Given the description of an element on the screen output the (x, y) to click on. 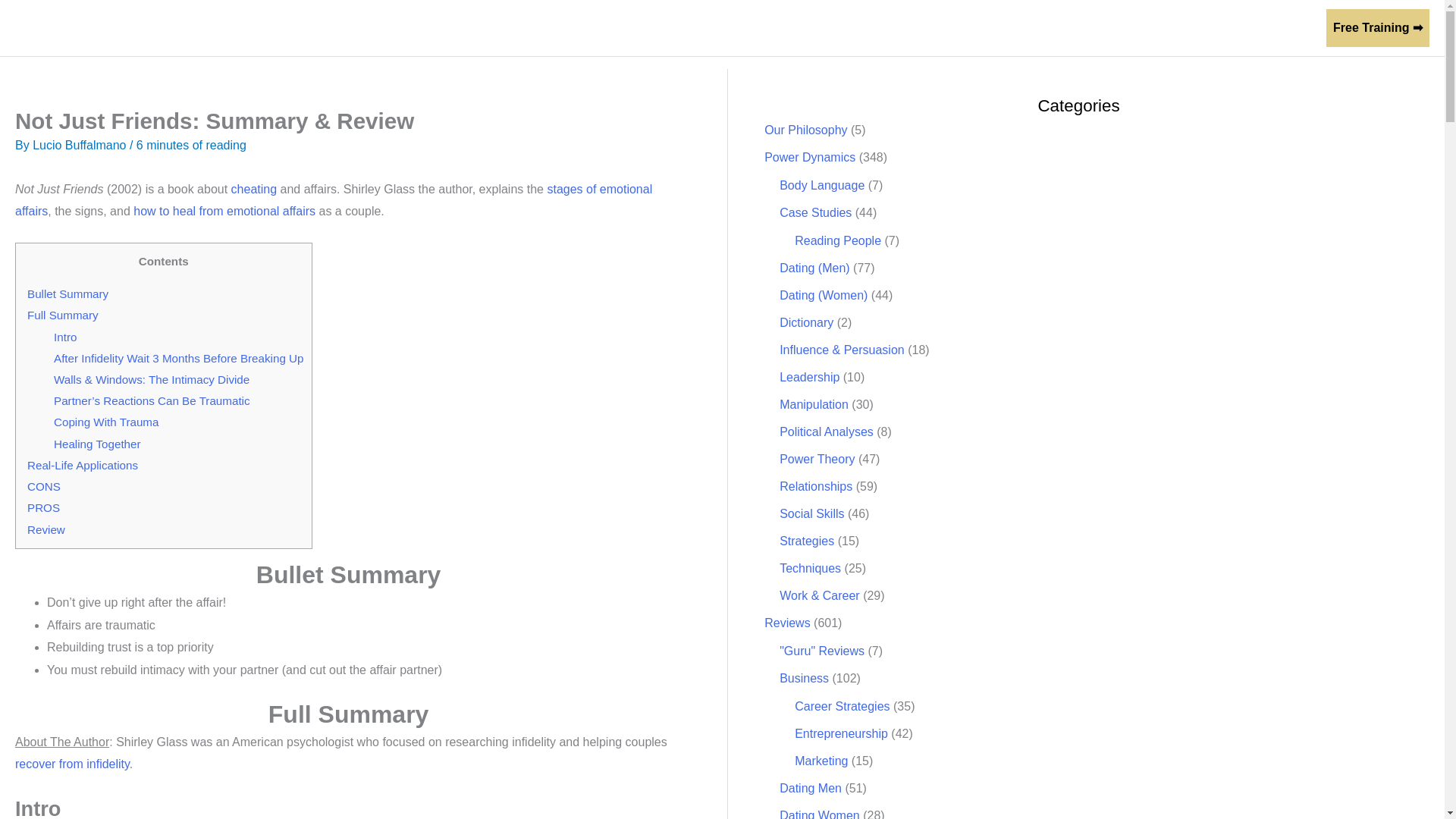
Coaching (1272, 27)
Start Here (951, 27)
Resources (1102, 27)
Courses (1192, 27)
View all posts by Lucio Buffalmano (80, 144)
Blog (1022, 27)
